Given the description of an element on the screen output the (x, y) to click on. 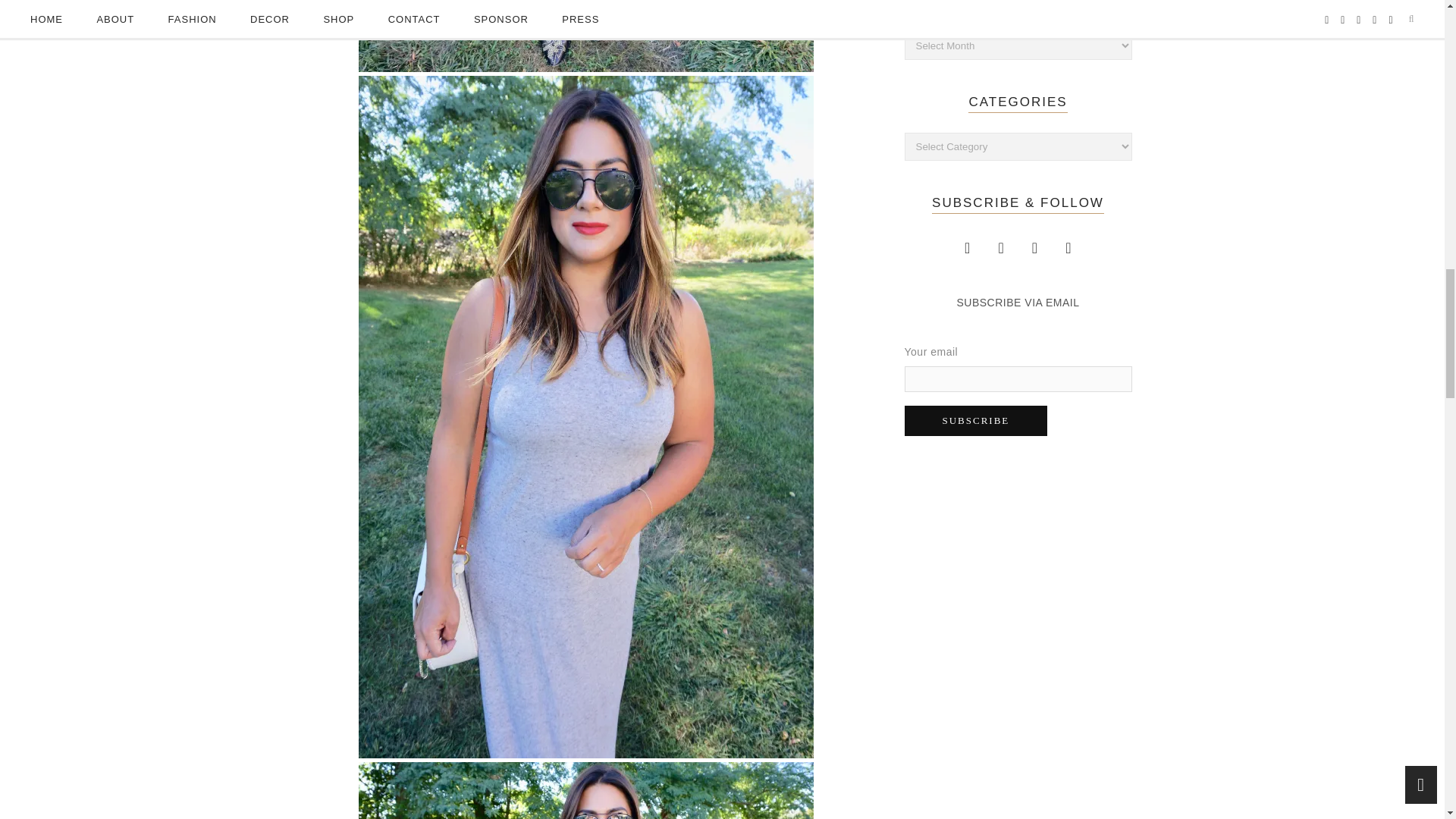
Subscribe (975, 420)
